Given the description of an element on the screen output the (x, y) to click on. 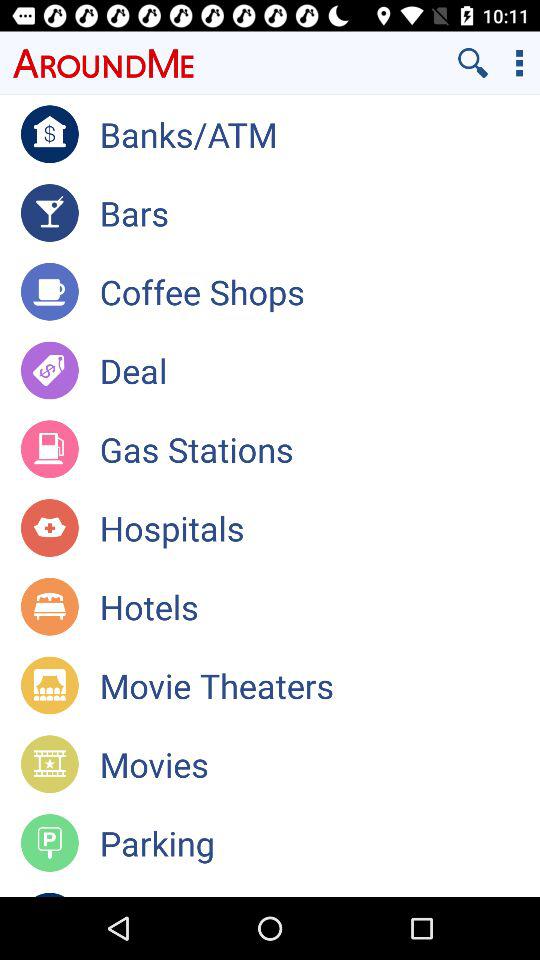
turn on item below the hotels (319, 685)
